Given the description of an element on the screen output the (x, y) to click on. 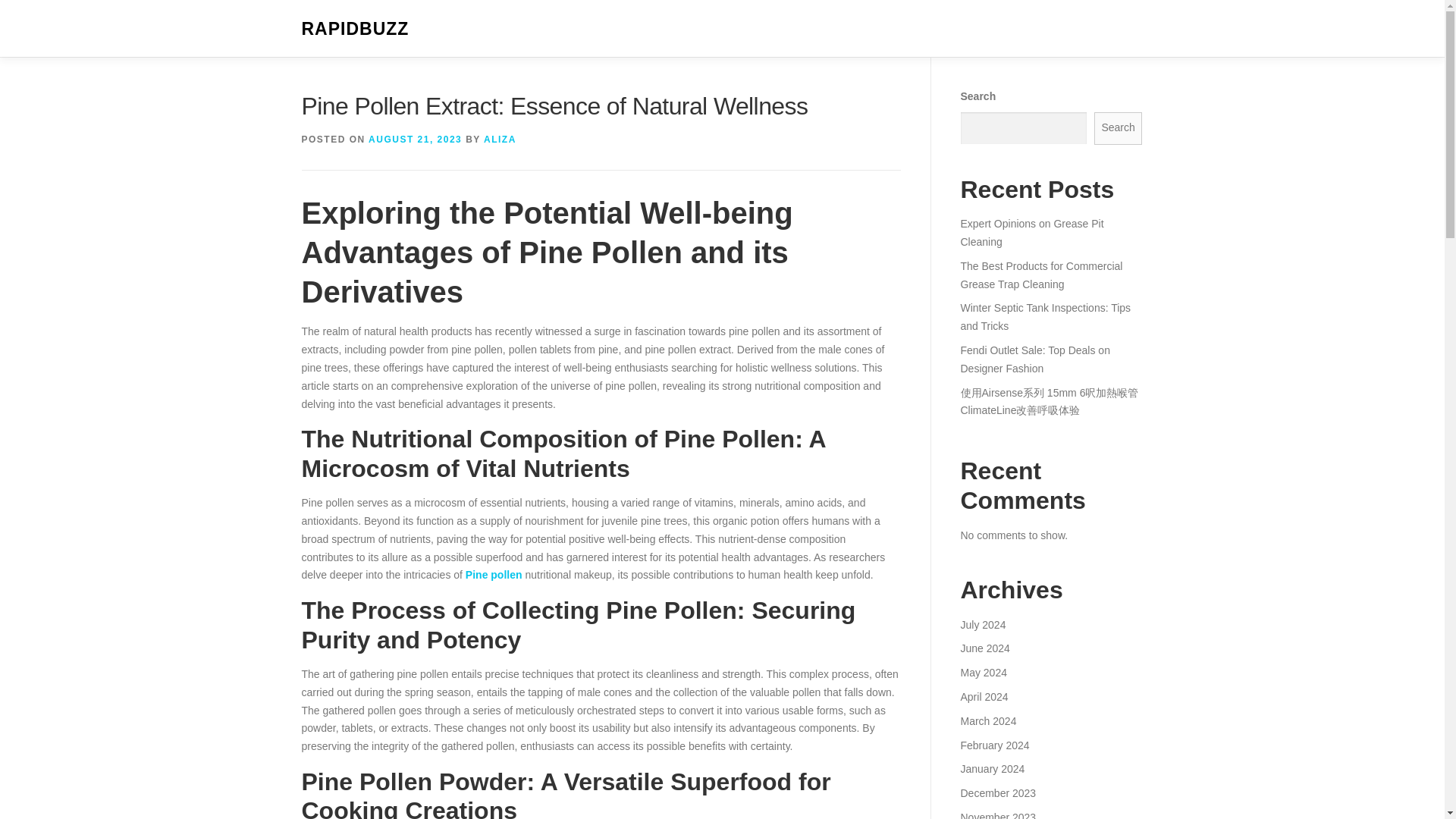
ALIZA (499, 139)
July 2024 (982, 624)
December 2023 (997, 793)
May 2024 (982, 672)
Expert Opinions on Grease Pit Cleaning (1031, 232)
March 2024 (987, 720)
February 2024 (994, 744)
RAPIDBUZZ (355, 29)
The Best Products for Commercial Grease Trap Cleaning (1040, 275)
November 2023 (997, 815)
AUGUST 21, 2023 (414, 139)
Fendi Outlet Sale: Top Deals on Designer Fashion (1034, 358)
Search (1118, 128)
Winter Septic Tank Inspections: Tips and Tricks (1045, 317)
April 2024 (983, 696)
